Given the description of an element on the screen output the (x, y) to click on. 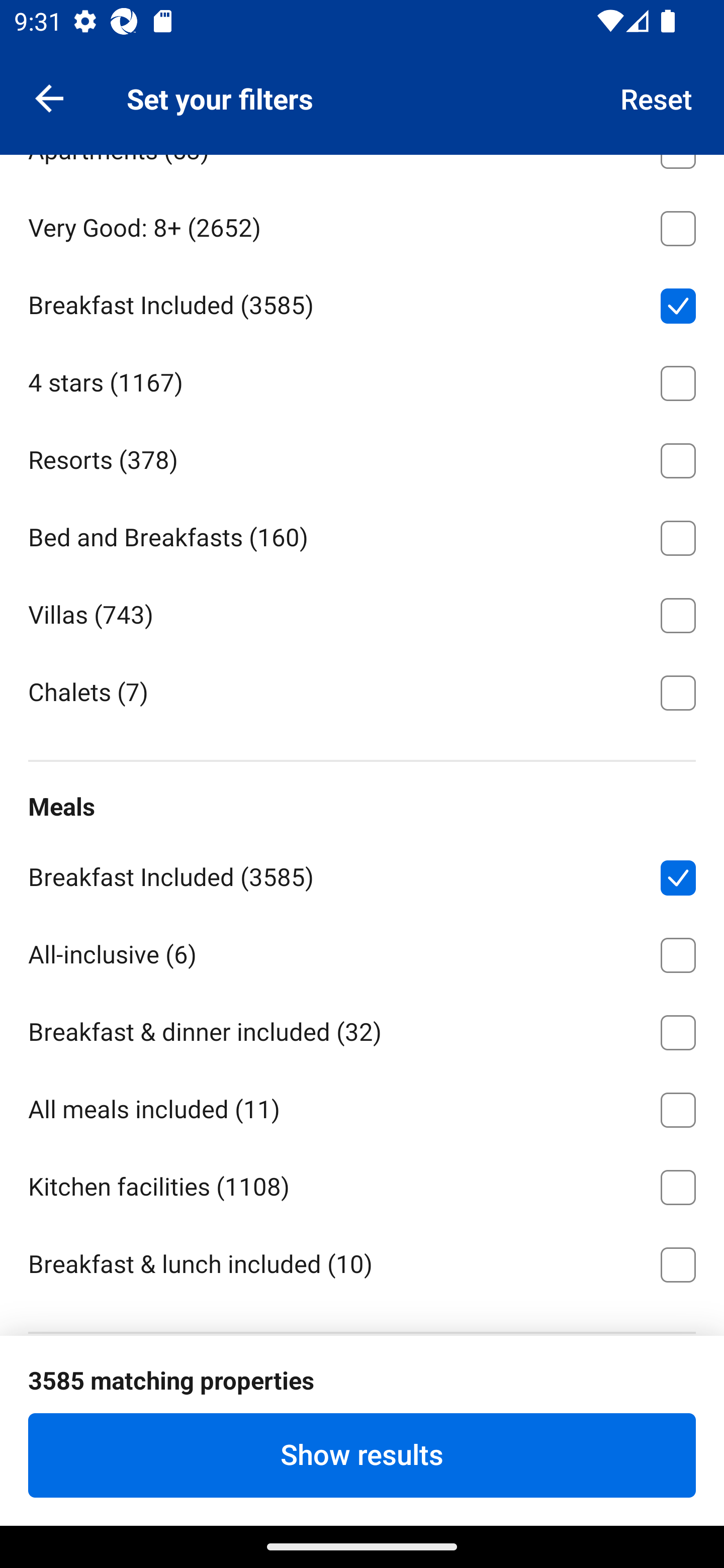
Navigate up (49, 97)
Reset (656, 97)
Very Good: 8+ ⁦(2652) (361, 224)
Breakfast Included ⁦(3585) (361, 302)
4 stars ⁦(1167) (361, 379)
Resorts ⁦(378) (361, 456)
Bed and Breakfasts ⁦(160) (361, 534)
Villas ⁦(743) (361, 611)
Chalets ⁦(7) (361, 691)
Breakfast Included ⁦(3585) (361, 873)
All-inclusive ⁦(6) (361, 951)
Breakfast & dinner included ⁦(32) (361, 1028)
All meals included ⁦(11) (361, 1105)
Kitchen facilities ⁦(1108) (361, 1183)
Breakfast & lunch included ⁦(10) (361, 1263)
Show results (361, 1454)
